Given the description of an element on the screen output the (x, y) to click on. 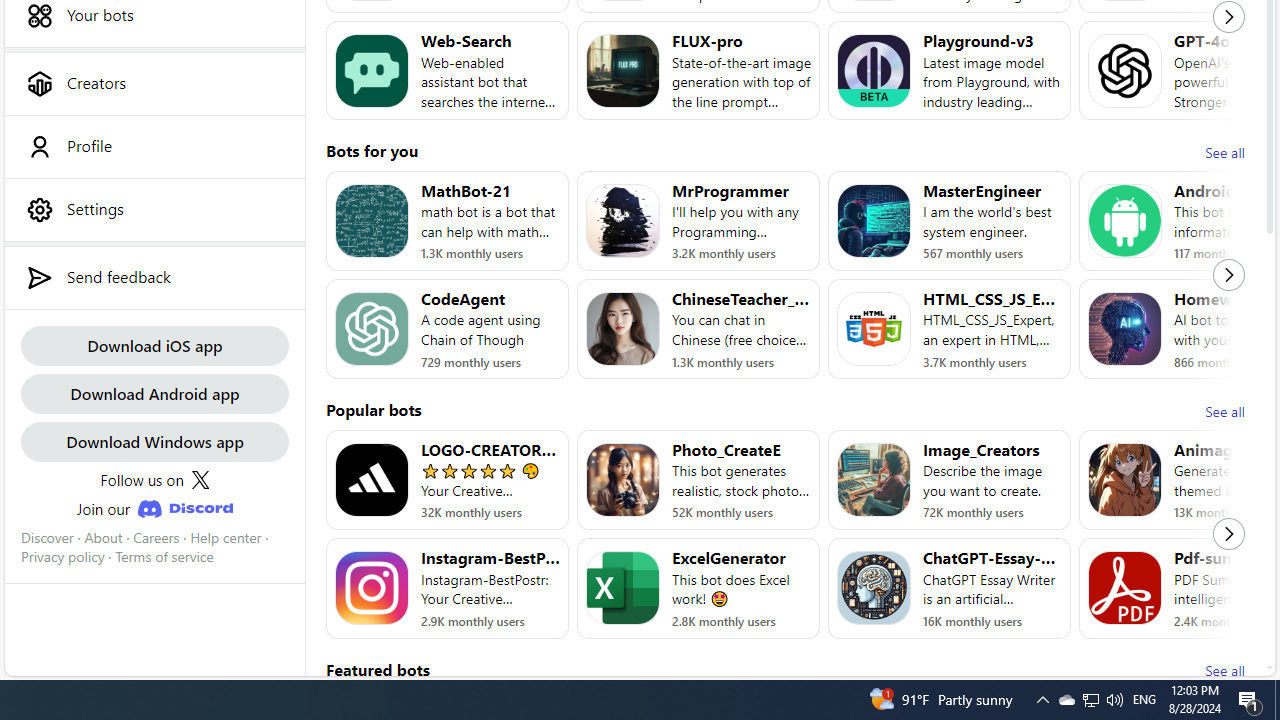
Download iOS app (154, 344)
Bot image for Web-Search (371, 70)
Profile (154, 146)
Bot image for Pdf-summarizer-64K (1124, 588)
Bot image for ChineseTeacher_Lily (623, 329)
Bot image for Instagram-BestPost (371, 588)
Bot image for ExcelGenerator (623, 588)
Bot image for MathBot-21 (371, 220)
Bot image for Photo_CreateE (623, 480)
